Given the description of an element on the screen output the (x, y) to click on. 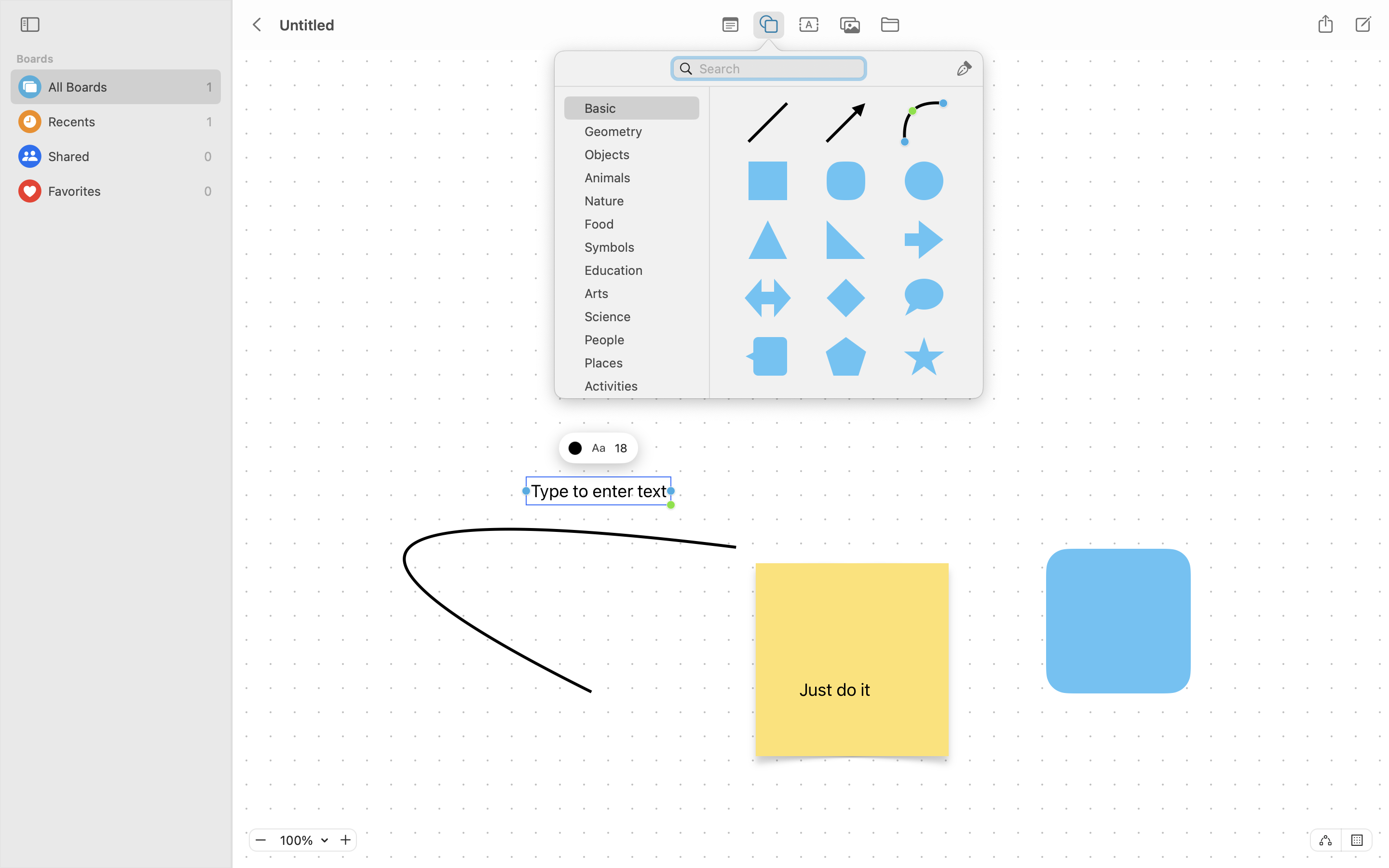
People Element type: AXStaticText (636, 342)
black Element type: AXButton (574, 447)
Objects Element type: AXStaticText (636, 157)
On Element type: AXButton (1356, 839)
Science Element type: AXStaticText (636, 319)
